Given the description of an element on the screen output the (x, y) to click on. 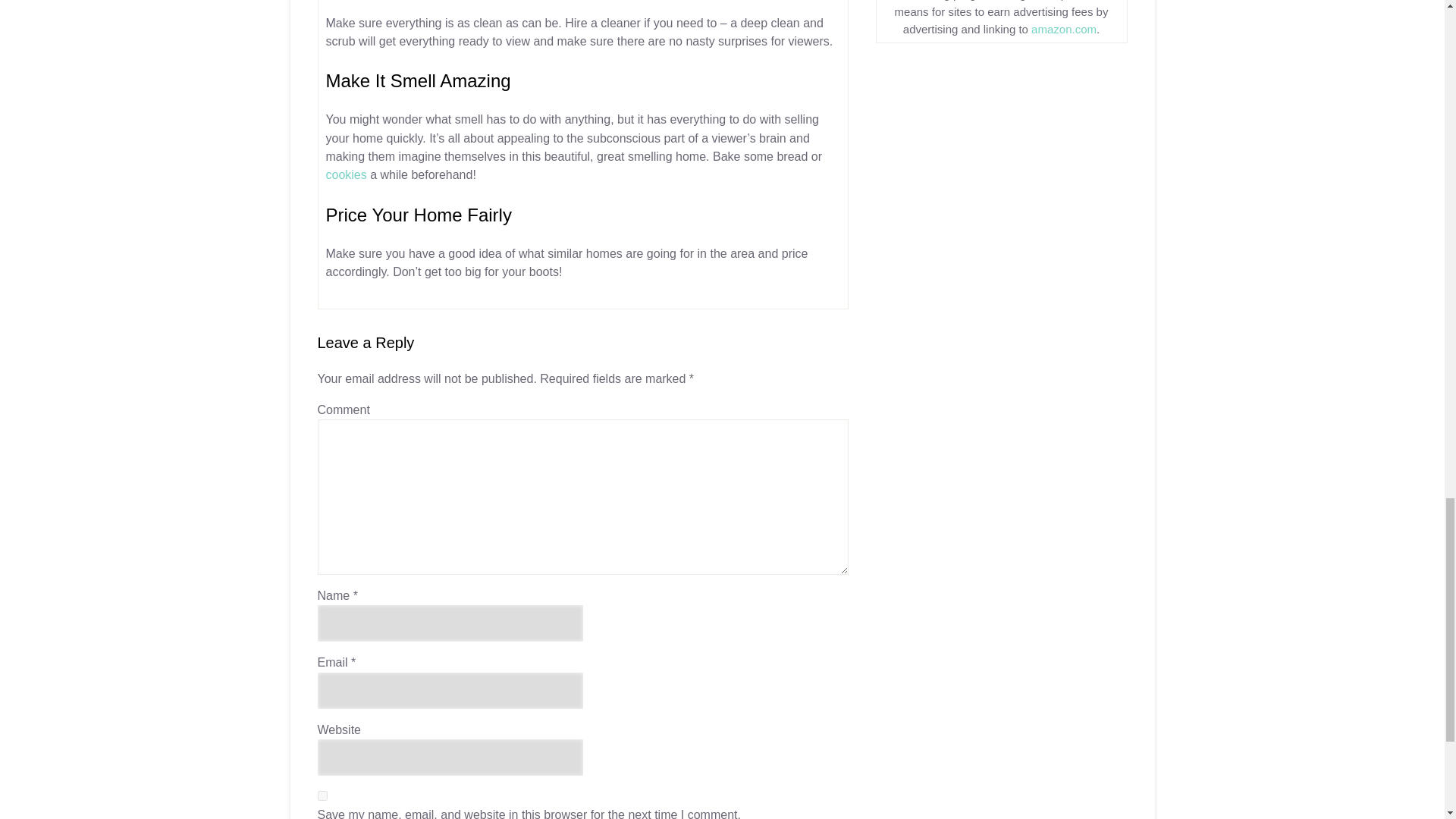
yes (321, 795)
